Given the description of an element on the screen output the (x, y) to click on. 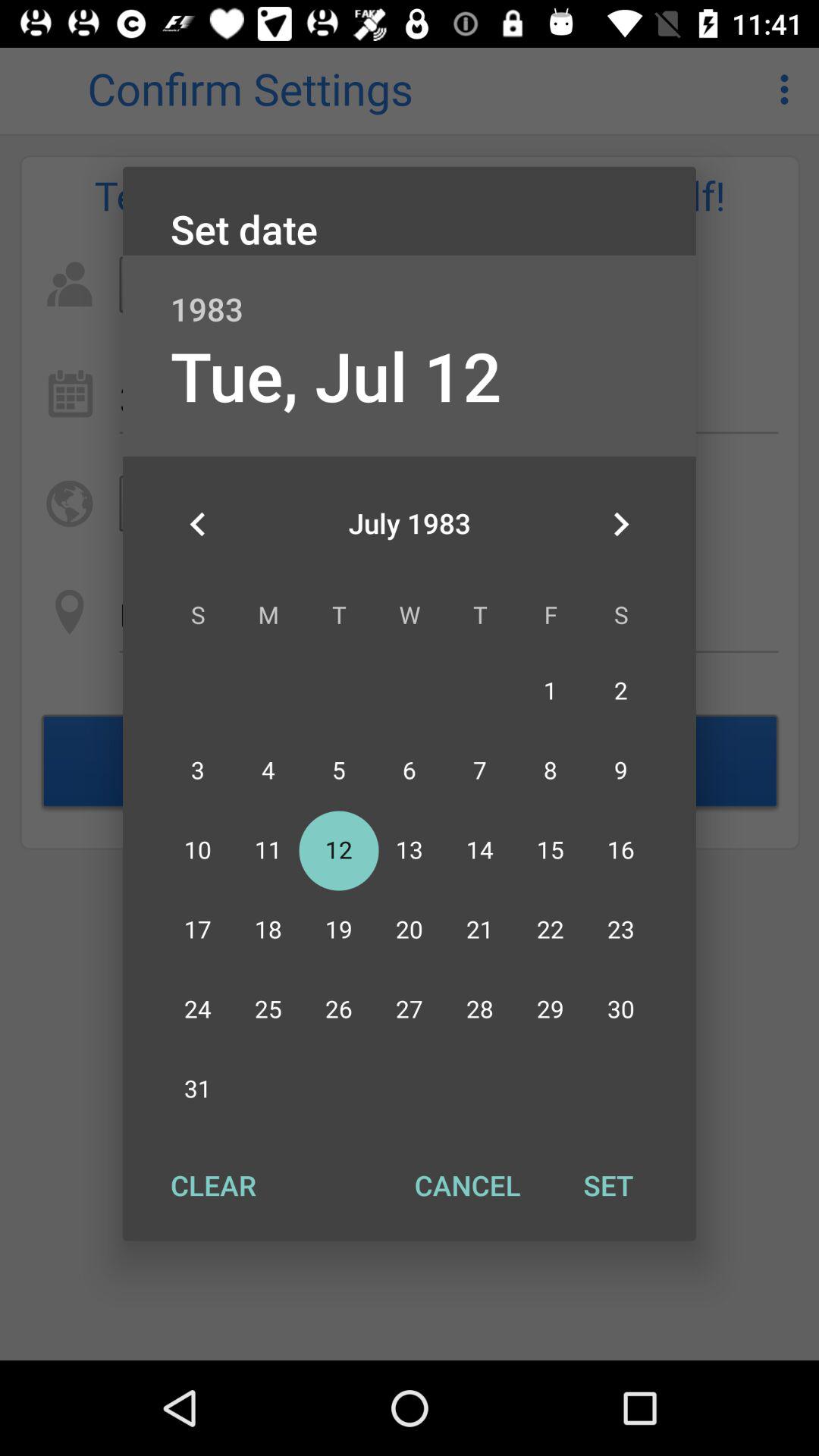
launch 1983 icon (409, 292)
